Given the description of an element on the screen output the (x, y) to click on. 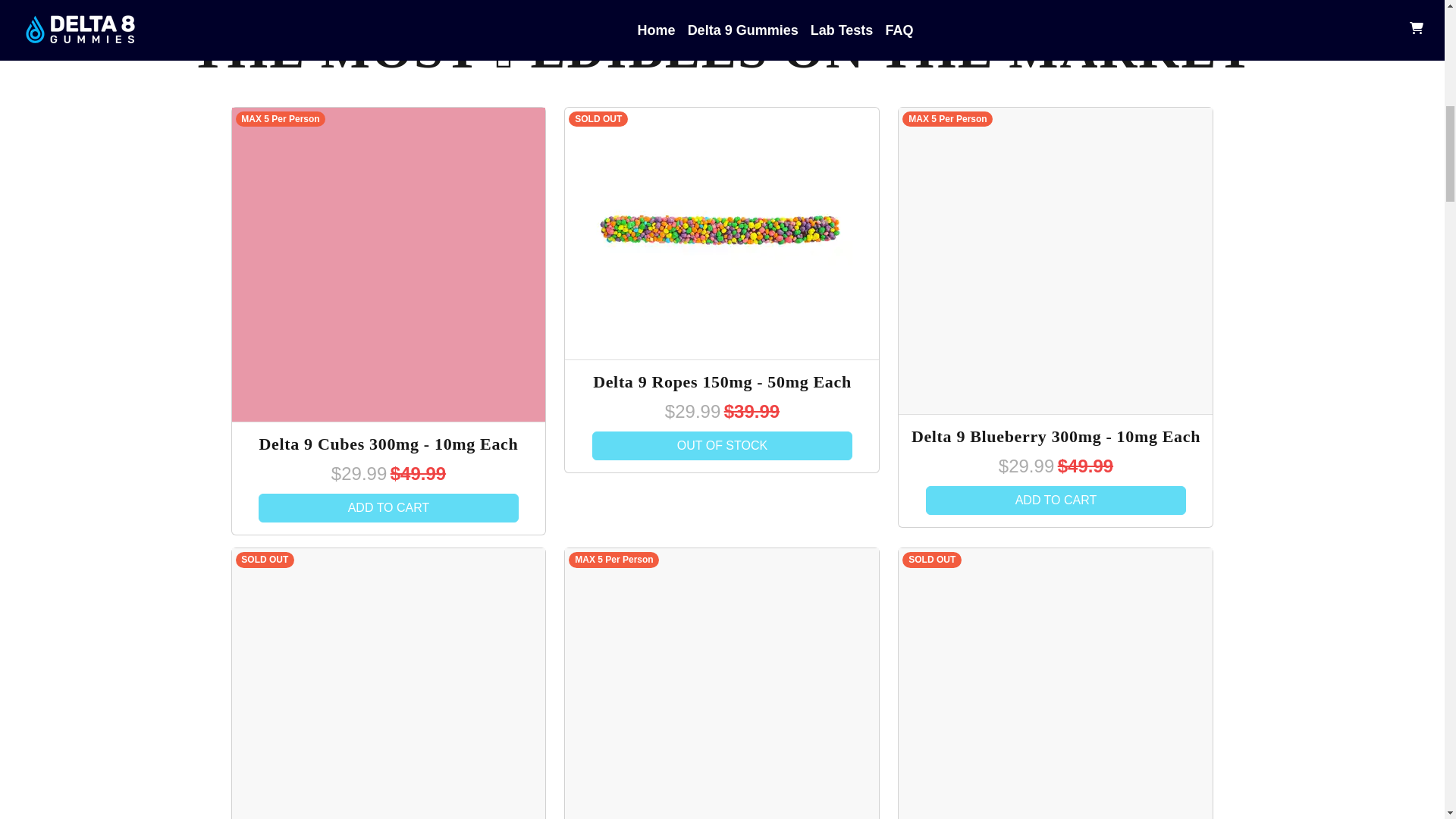
ADD TO CART (1056, 500)
OUT OF STOCK (722, 445)
ADD TO CART (389, 507)
